Given the description of an element on the screen output the (x, y) to click on. 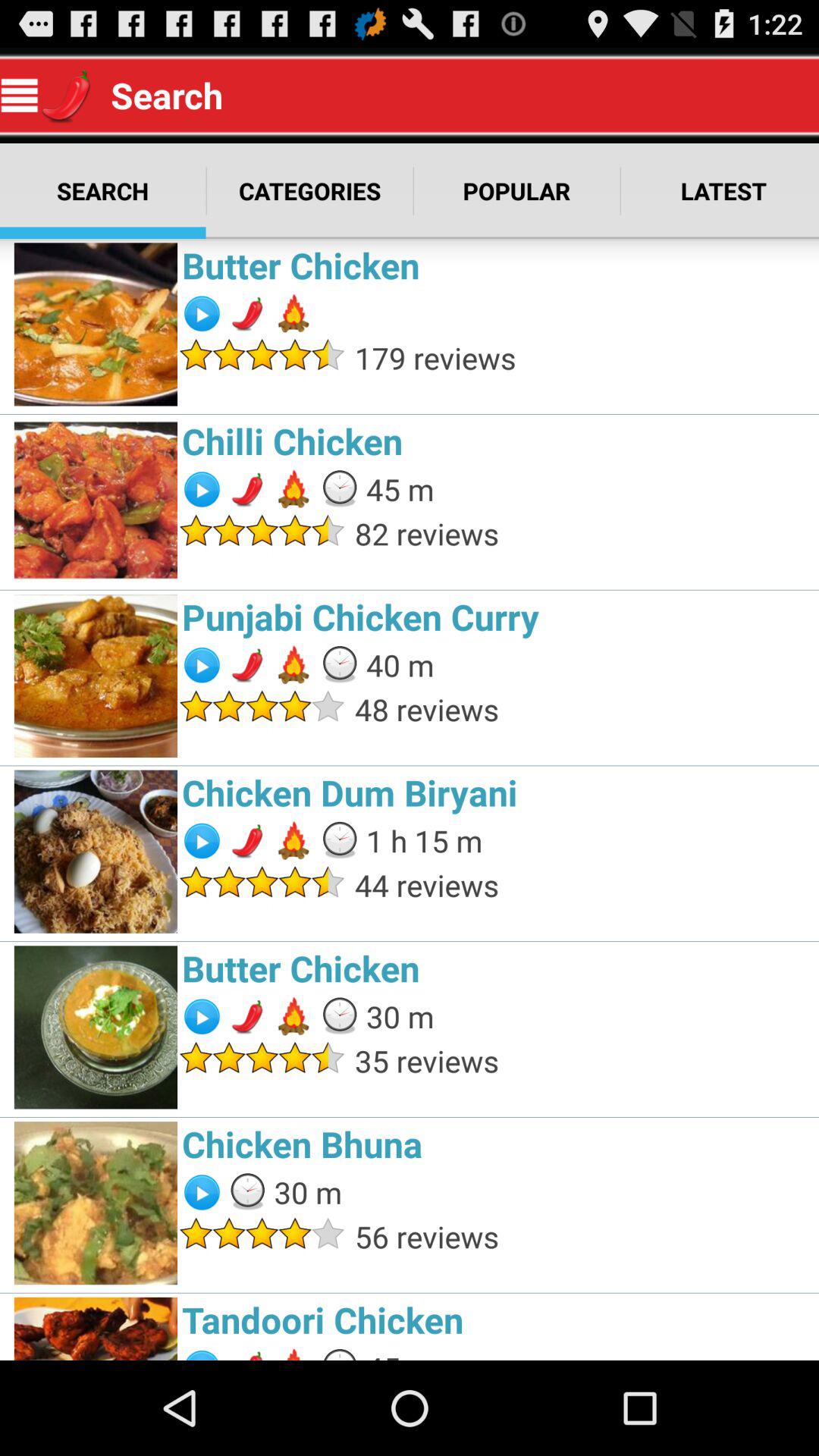
scroll to the 56 reviews item (582, 1236)
